Given the description of an element on the screen output the (x, y) to click on. 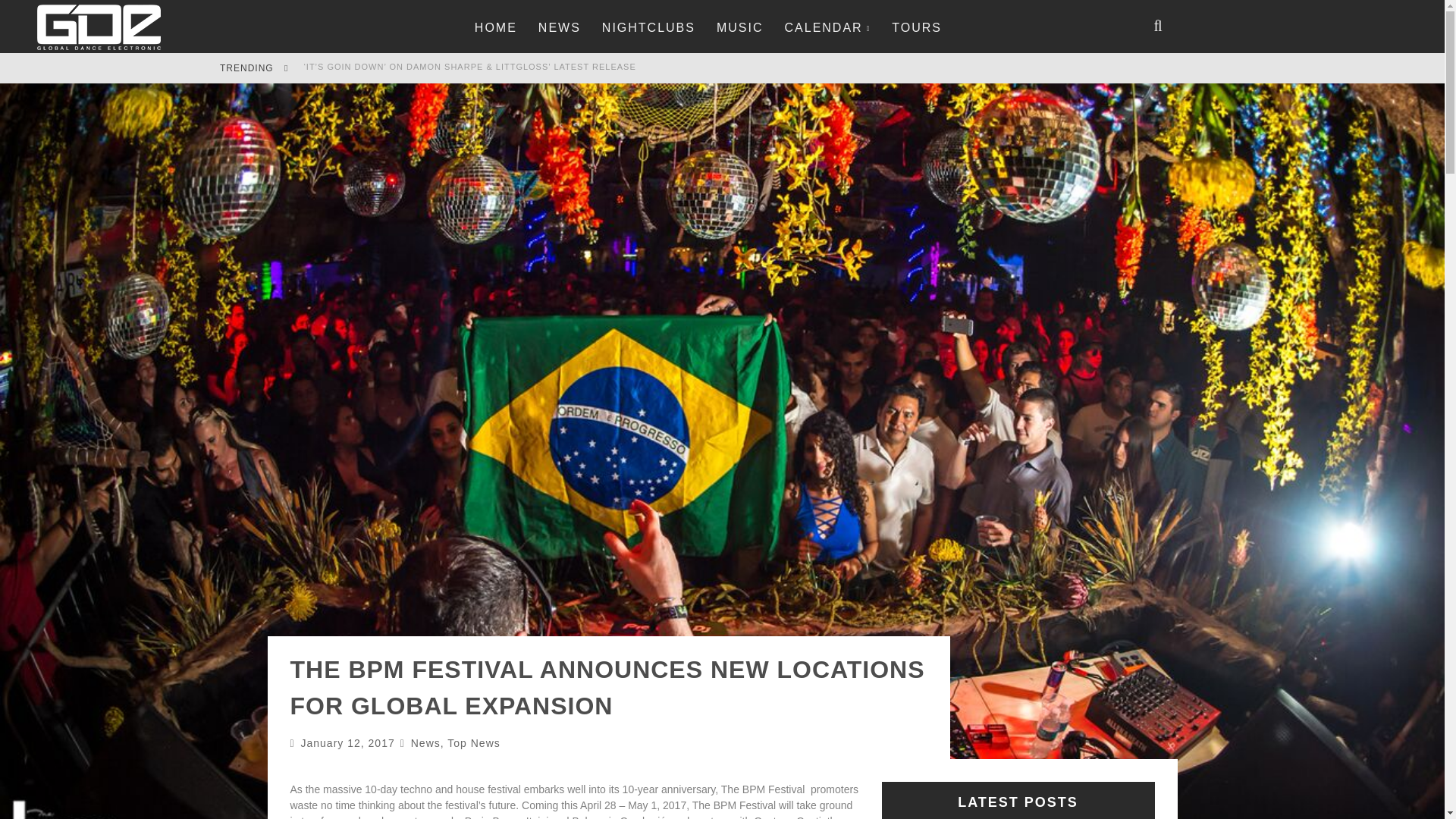
TOURS (916, 27)
NEWS (559, 27)
View all posts in News (425, 743)
NIGHTCLUBS (648, 27)
Top News (472, 743)
News (425, 743)
View all posts in Top News (472, 743)
CALENDAR (827, 27)
MUSIC (739, 27)
HOME (495, 27)
